Given the description of an element on the screen output the (x, y) to click on. 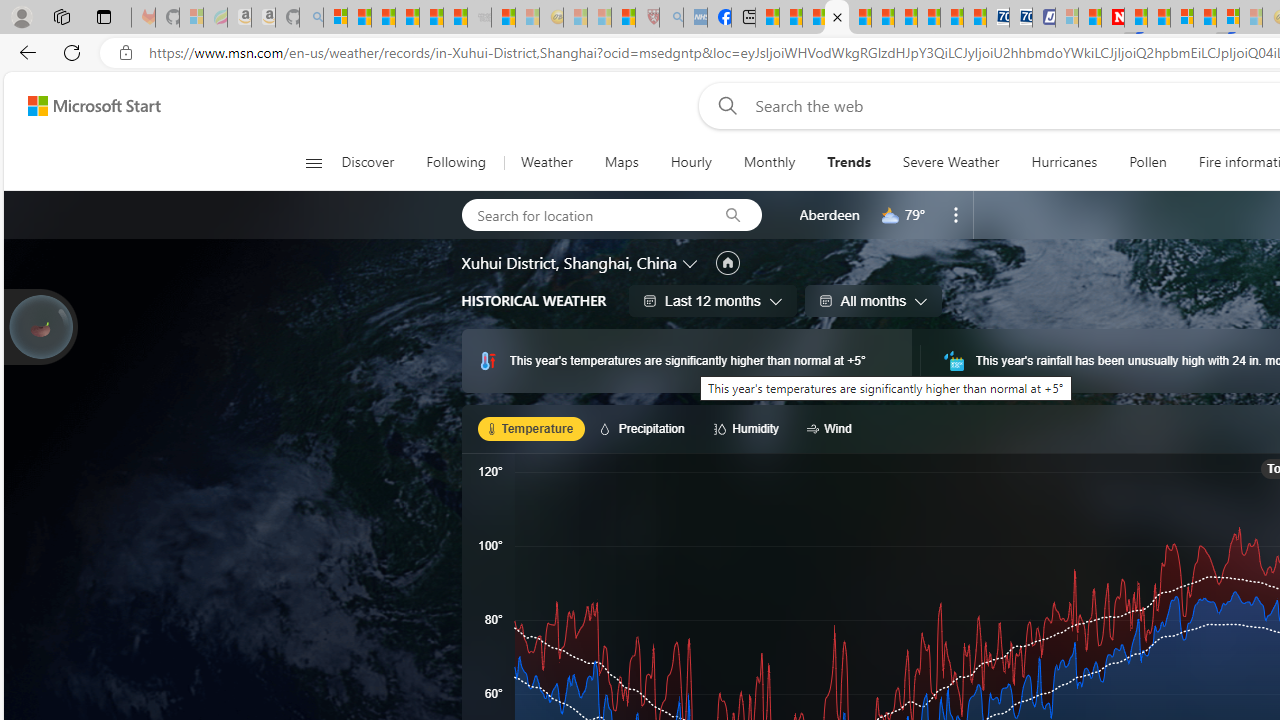
Latest Politics News & Archive | Newsweek.com (1112, 17)
Humidity (749, 428)
Temperature (531, 428)
Hurricanes (1064, 162)
All months (873, 300)
